Given the description of an element on the screen output the (x, y) to click on. 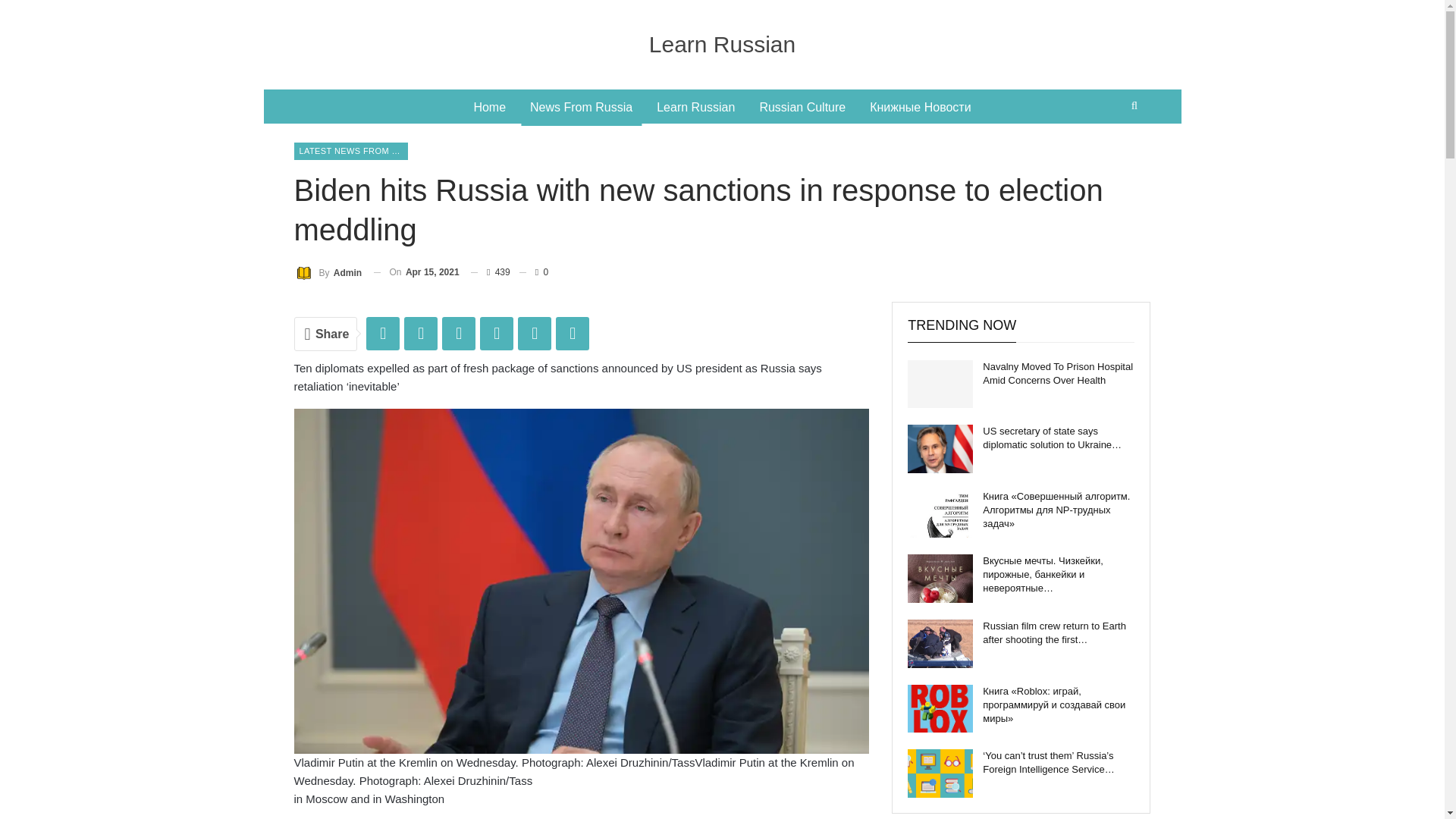
Learn Russian (721, 43)
By Admin (328, 272)
Browse Author Articles (328, 272)
Russian Culture (801, 107)
News From Russia (581, 107)
Learn Russian (695, 107)
0 (533, 271)
Home (489, 107)
LATEST NEWS FROM RUSSIA (350, 150)
